Given the description of an element on the screen output the (x, y) to click on. 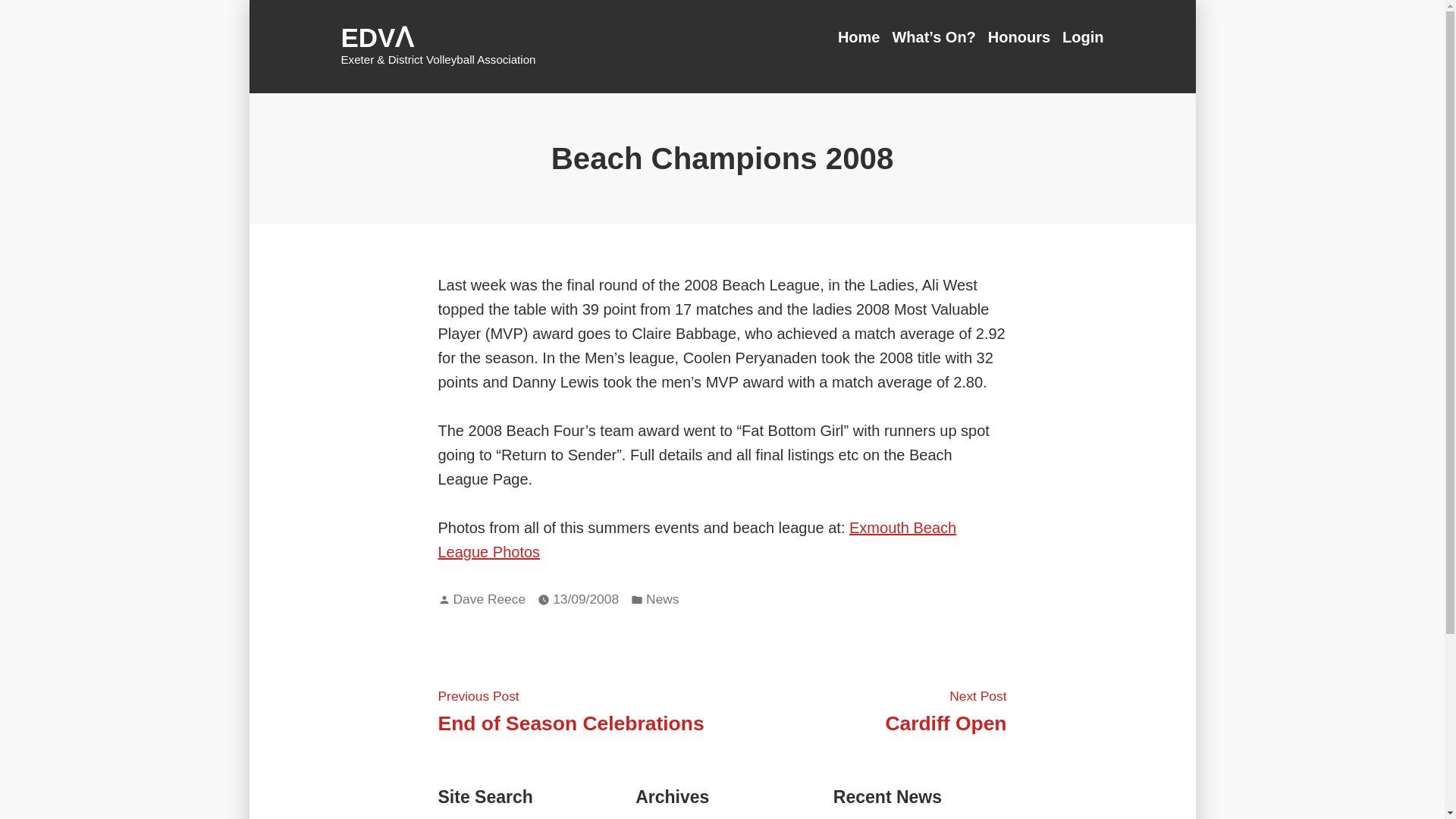
Home (862, 37)
Login (1080, 37)
Home (862, 37)
News (662, 599)
Honours (945, 710)
Dave Reece (1019, 37)
Exmouth Beach League Photos (488, 598)
